Given the description of an element on the screen output the (x, y) to click on. 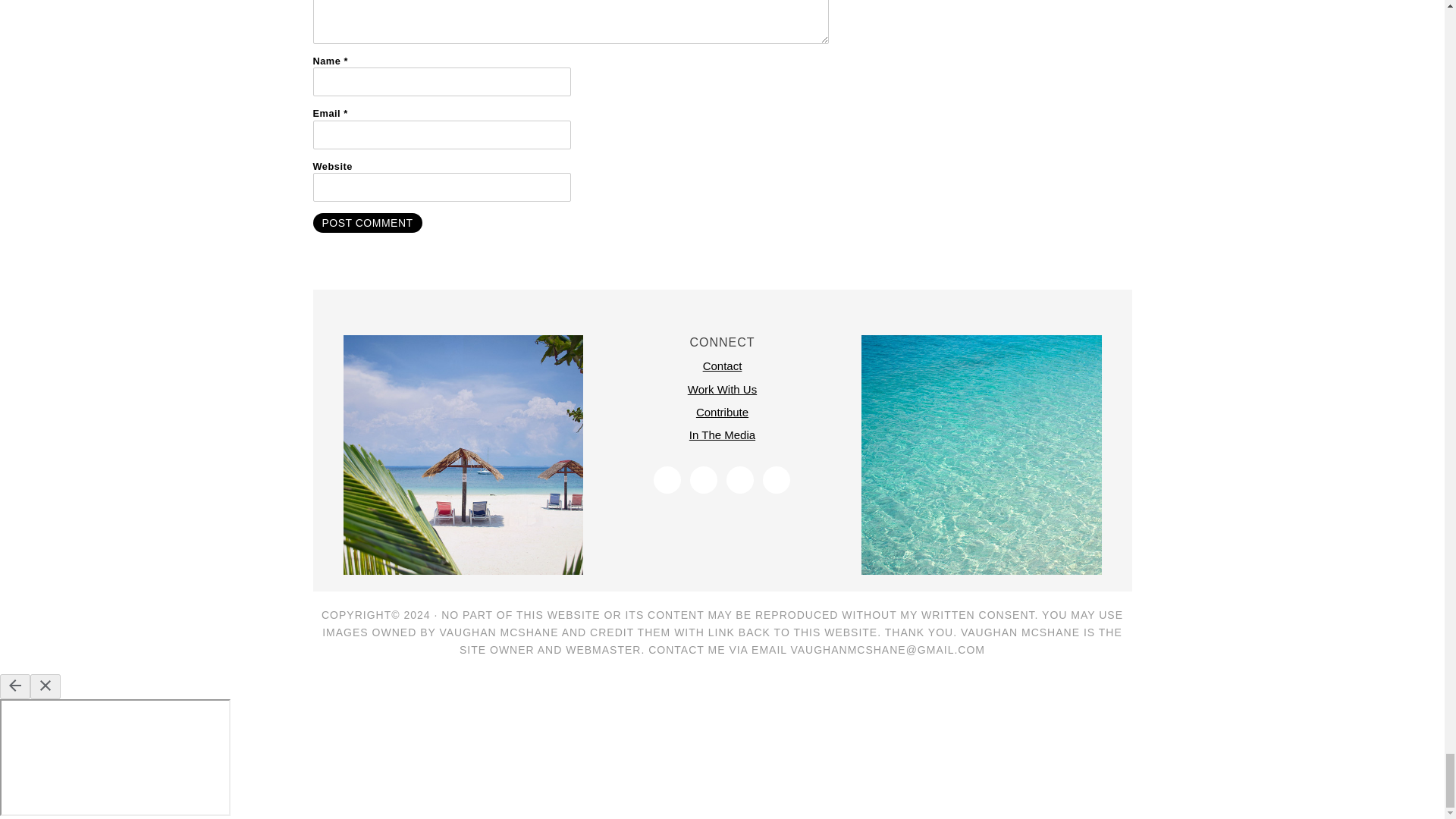
Post Comment (367, 222)
